Given the description of an element on the screen output the (x, y) to click on. 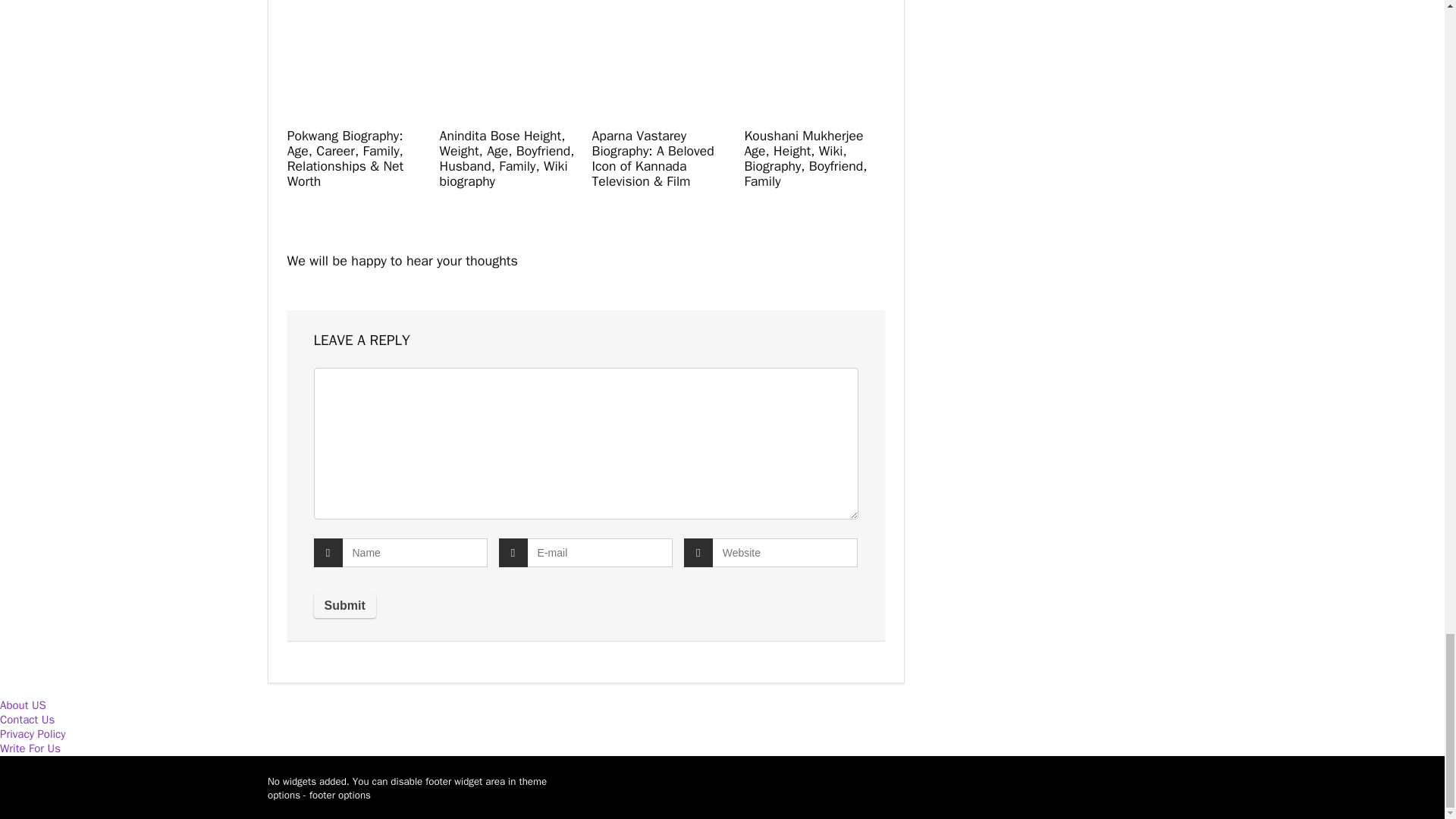
Submit (344, 605)
Submit (344, 605)
